Given the description of an element on the screen output the (x, y) to click on. 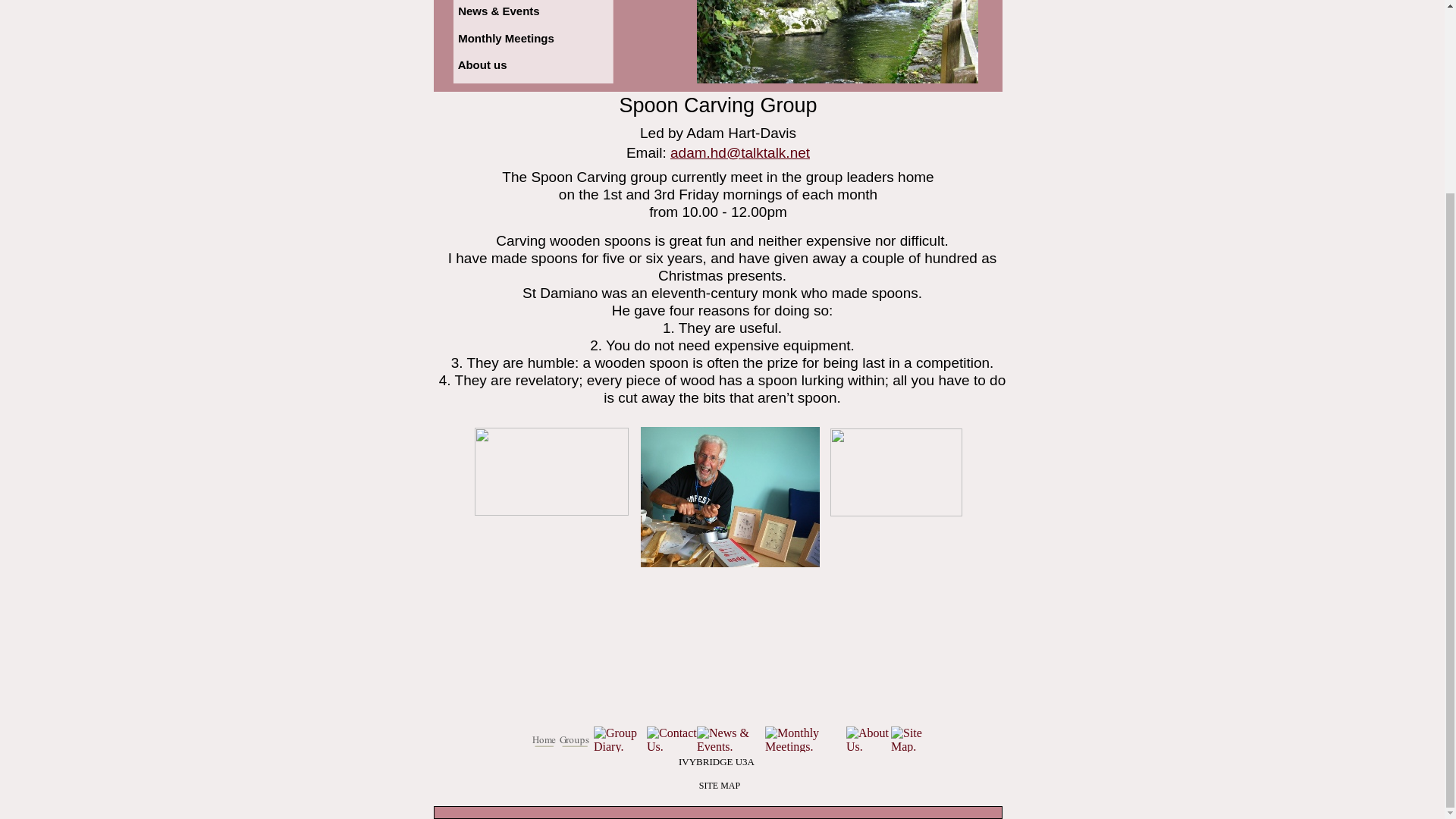
About us (482, 64)
Monthly Meetings (506, 38)
SITE MAP (718, 785)
